Given the description of an element on the screen output the (x, y) to click on. 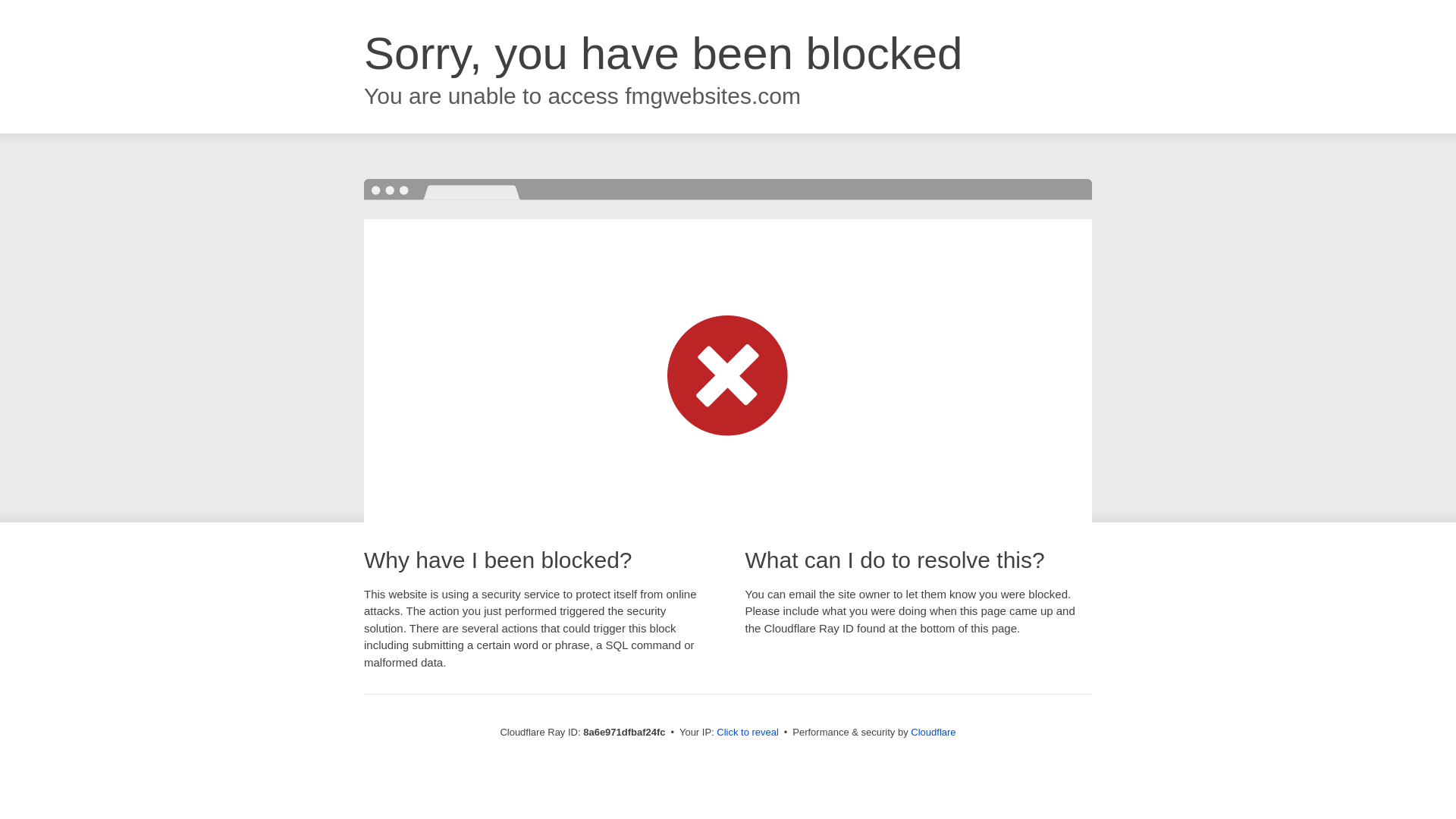
Click to reveal (747, 732)
Cloudflare (933, 731)
